Given the description of an element on the screen output the (x, y) to click on. 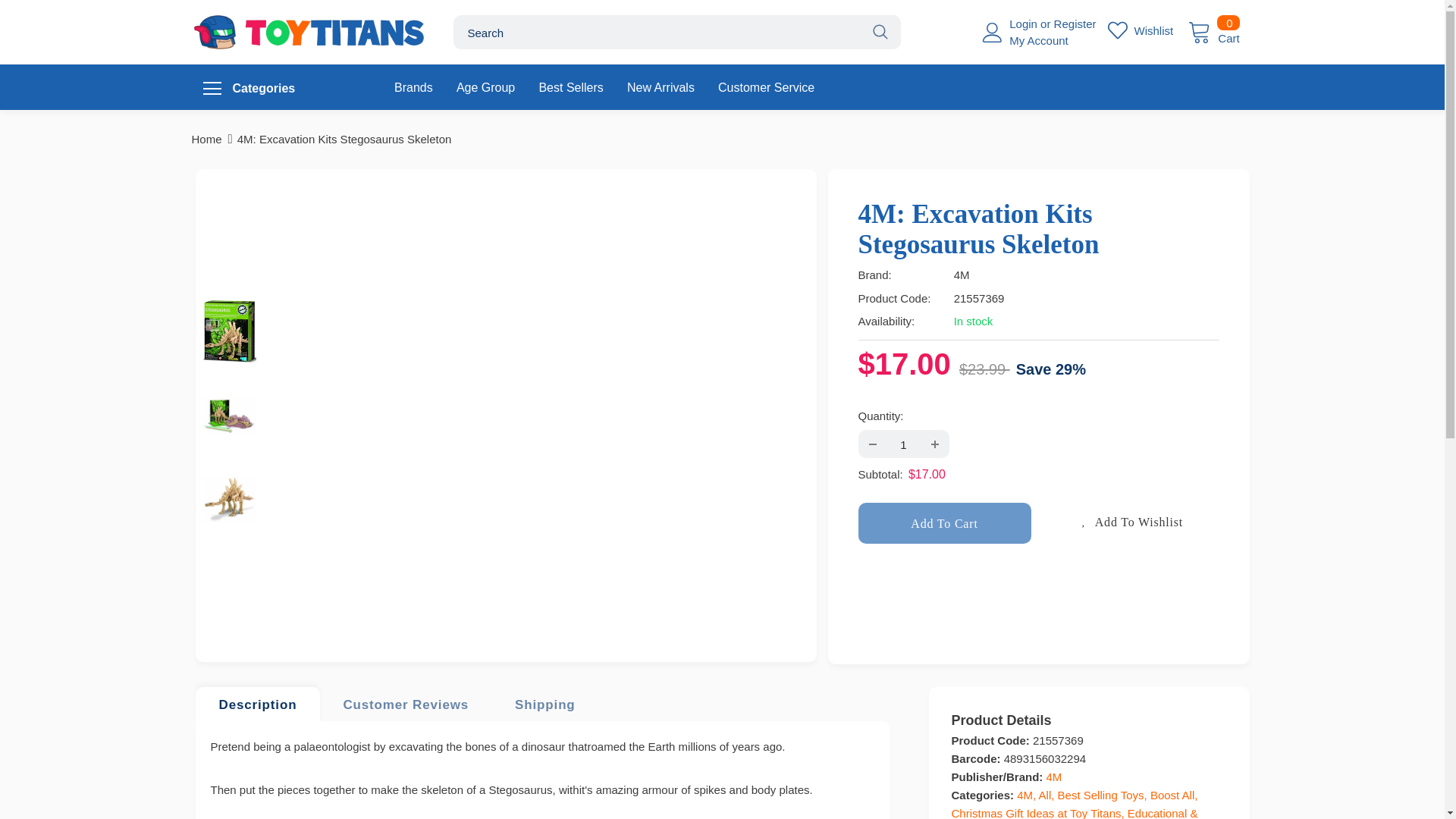
Register (1075, 23)
Login (1025, 23)
Add to Cart (944, 522)
Logo (308, 32)
1 (902, 443)
Wishlist (1214, 30)
My Account (1139, 30)
